Given the description of an element on the screen output the (x, y) to click on. 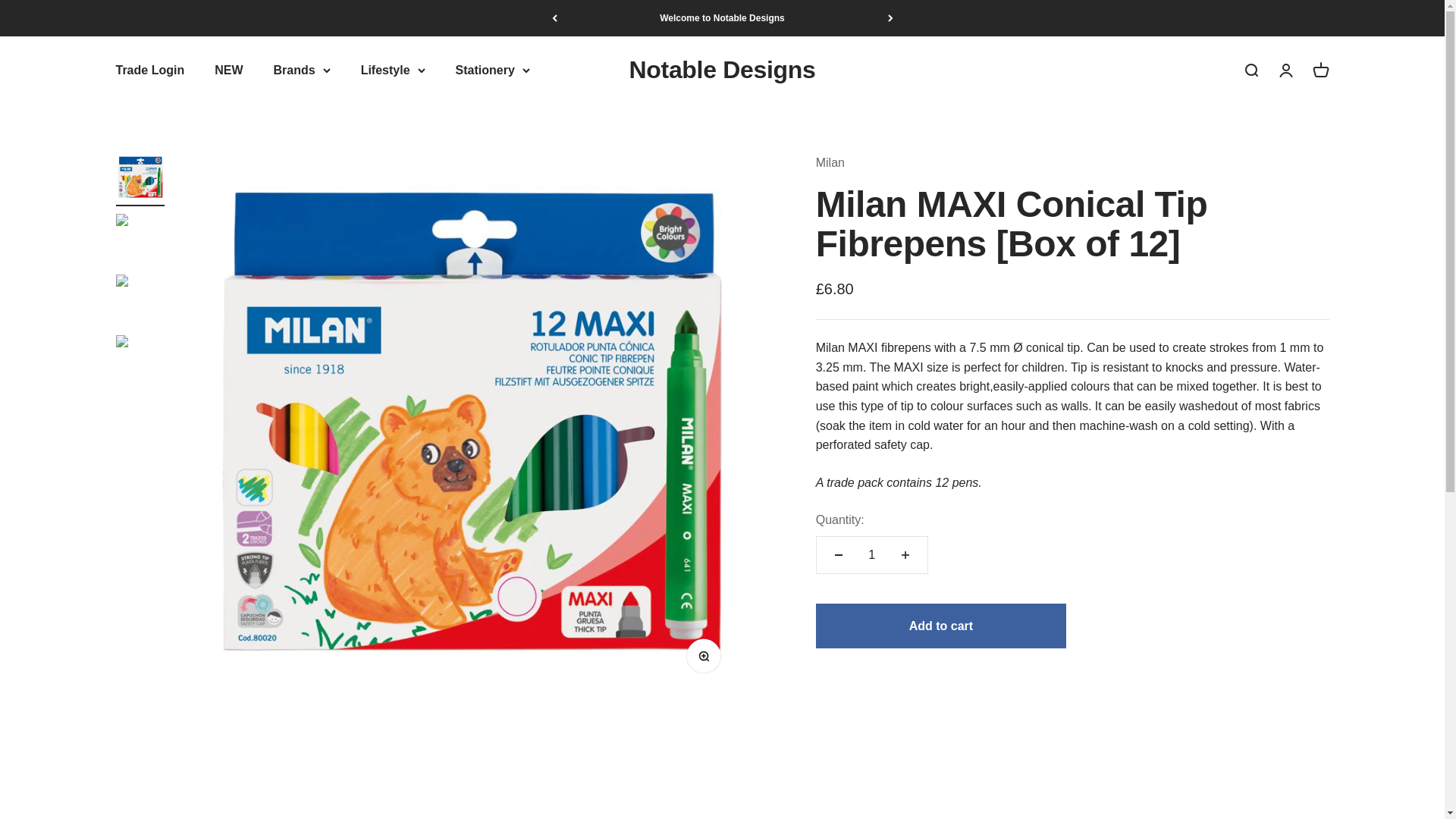
Trade Login (149, 69)
1 (871, 555)
NEW (228, 69)
Brands (301, 70)
